Given the description of an element on the screen output the (x, y) to click on. 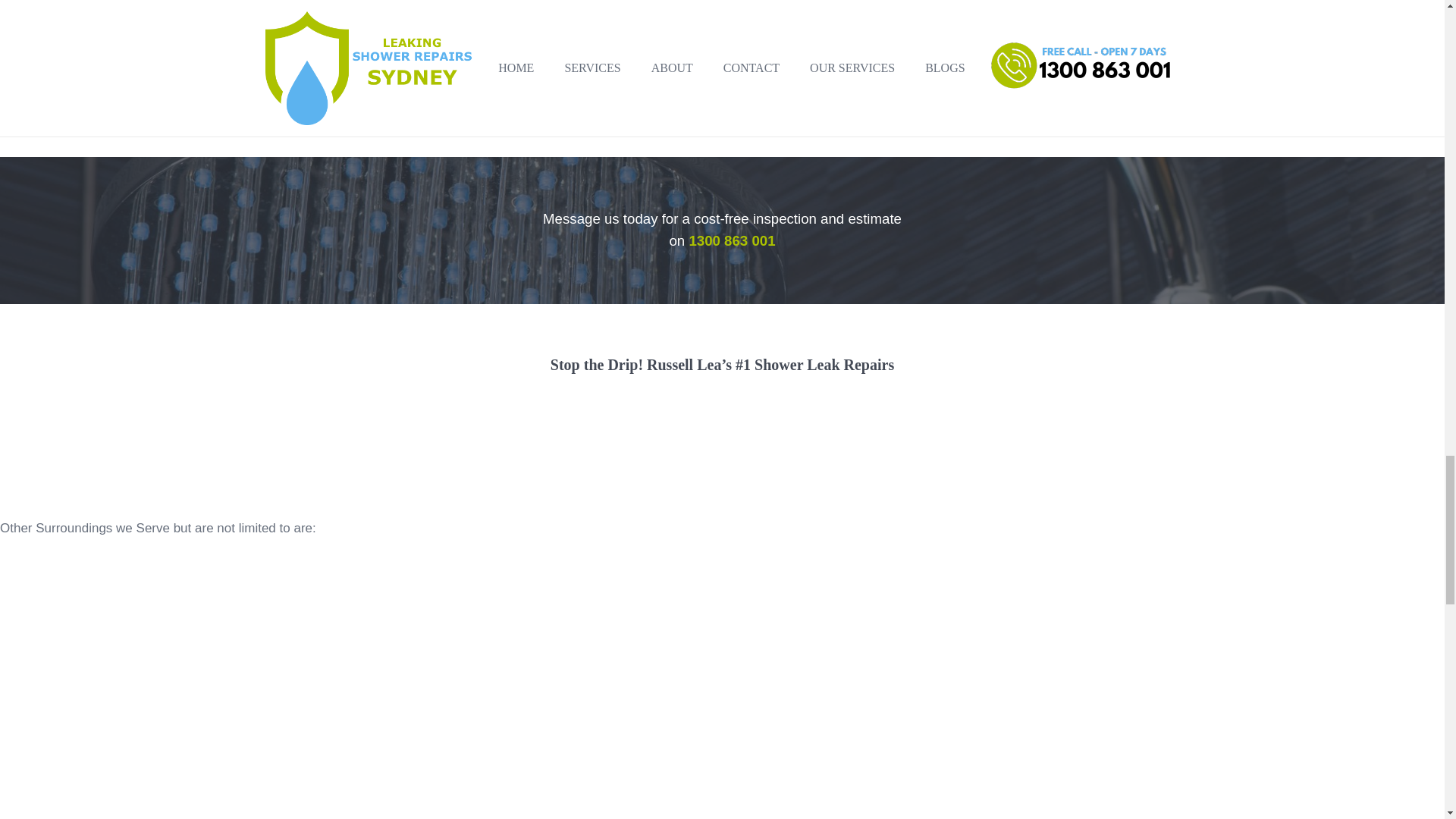
What is the usual timeframe for repairing a leaking shower? (721, 6)
How quickly can you respond to an emergency situation? (721, 81)
Are your technicians certified and experienced? (721, 35)
1300 863 001 (731, 240)
